Given the description of an element on the screen output the (x, y) to click on. 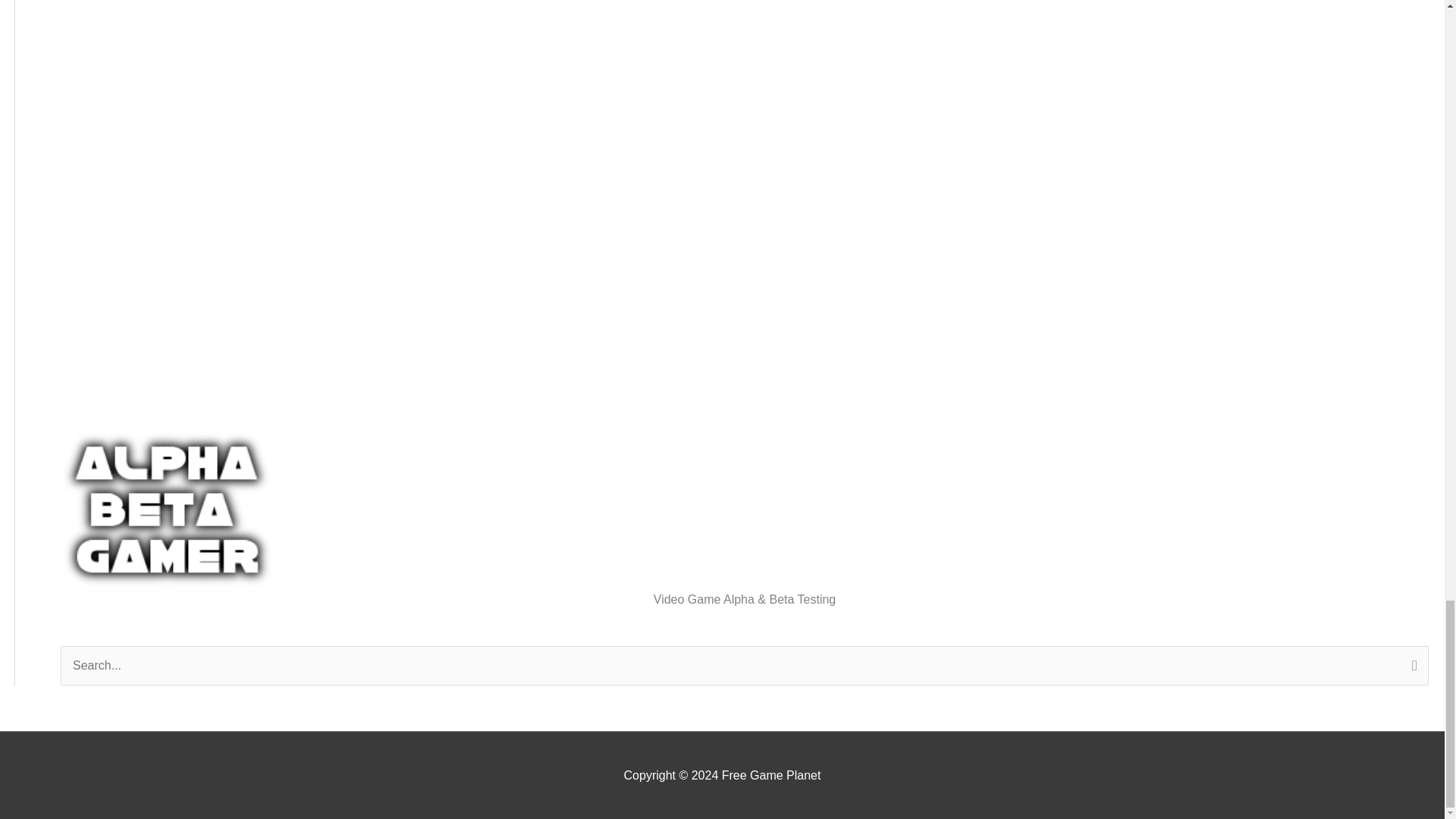
Search (1411, 667)
Search (1411, 667)
Advertisement (172, 198)
